Given the description of an element on the screen output the (x, y) to click on. 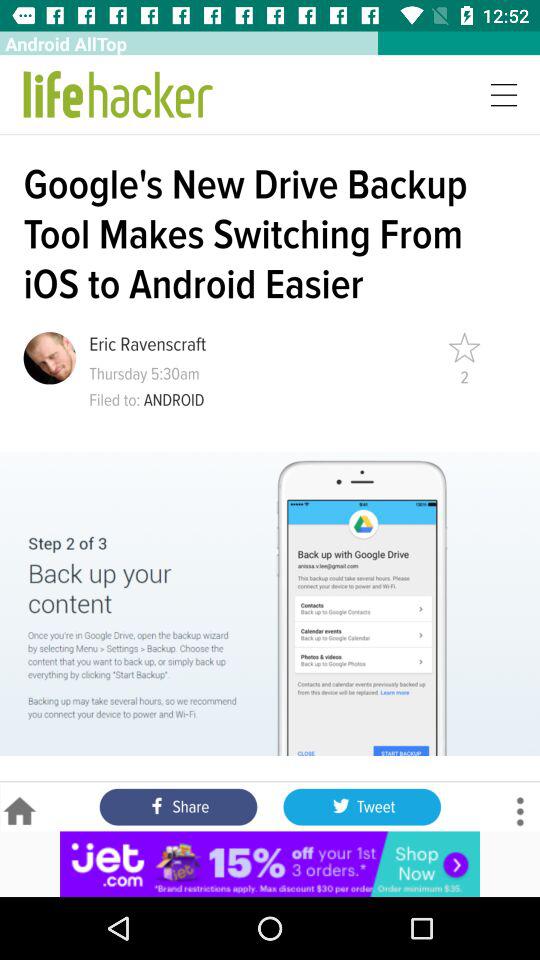
go to jet.com (270, 864)
